Given the description of an element on the screen output the (x, y) to click on. 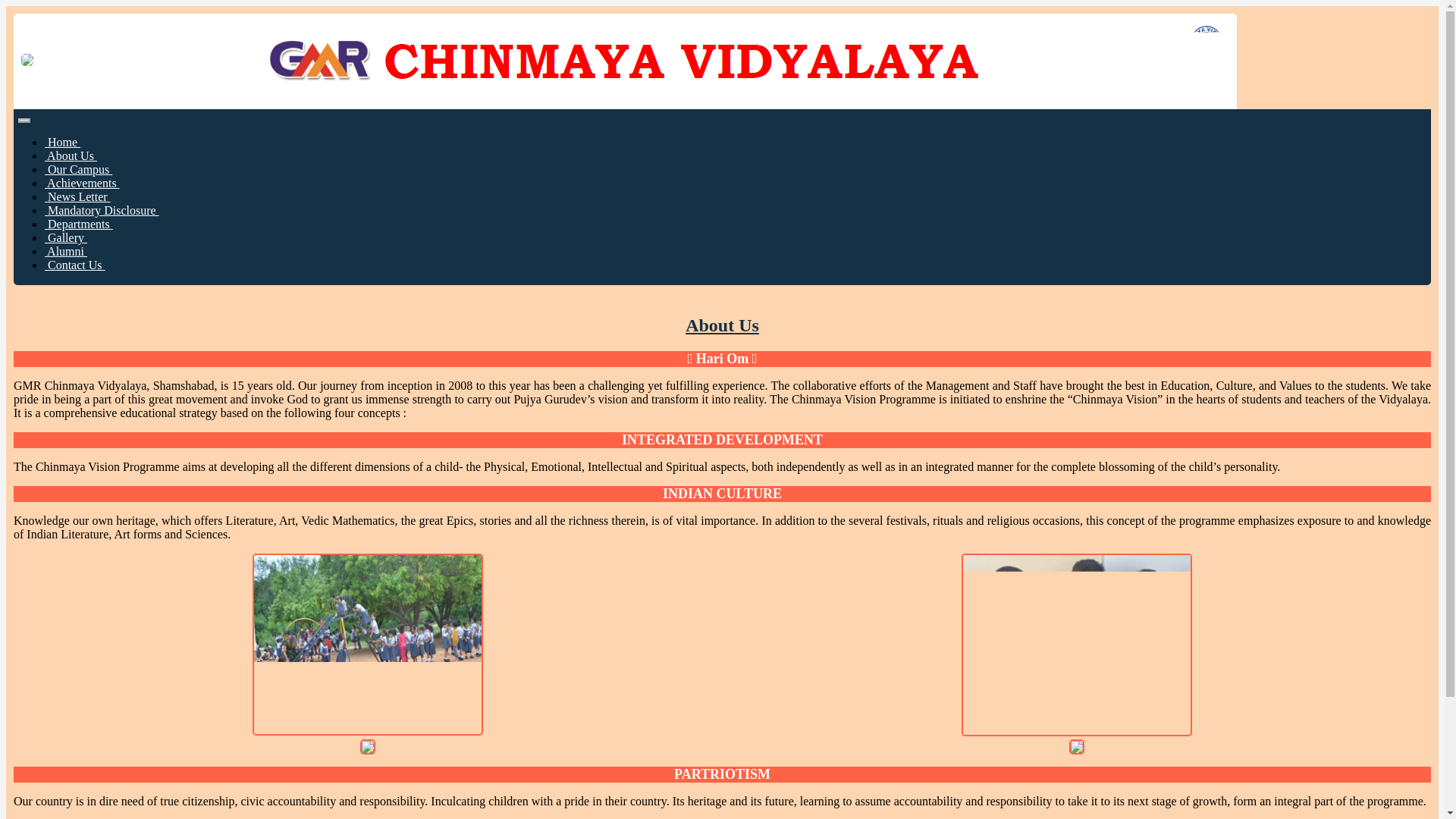
 Our Campus  (78, 169)
 News Letter  (77, 196)
 Alumni  (66, 250)
 Contact Us  (74, 264)
 Mandatory Disclosure  (101, 210)
 Departments  (79, 223)
 Achievements  (82, 182)
 Gallery  (66, 237)
 Home  (62, 141)
 About Us  (71, 155)
